Given the description of an element on the screen output the (x, y) to click on. 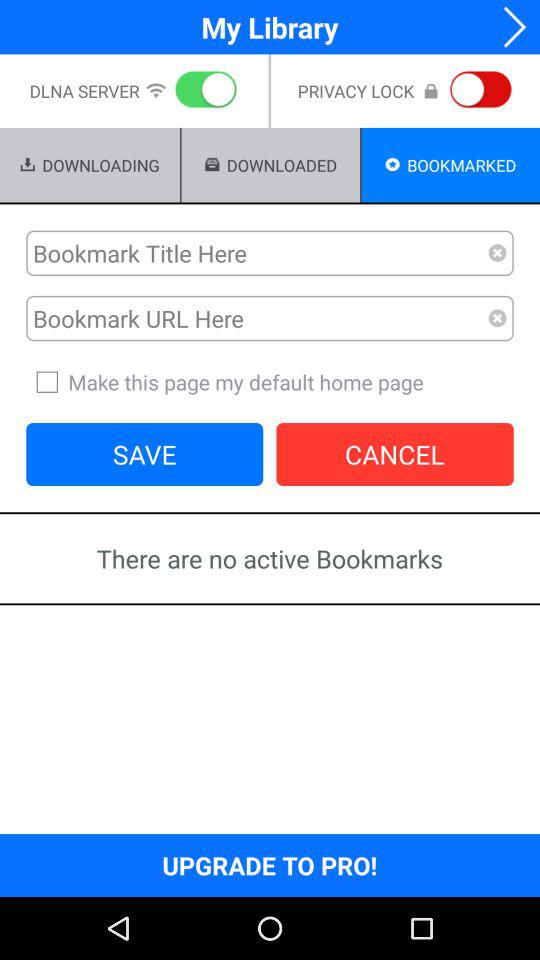
delete bookmark title (497, 253)
